Given the description of an element on the screen output the (x, y) to click on. 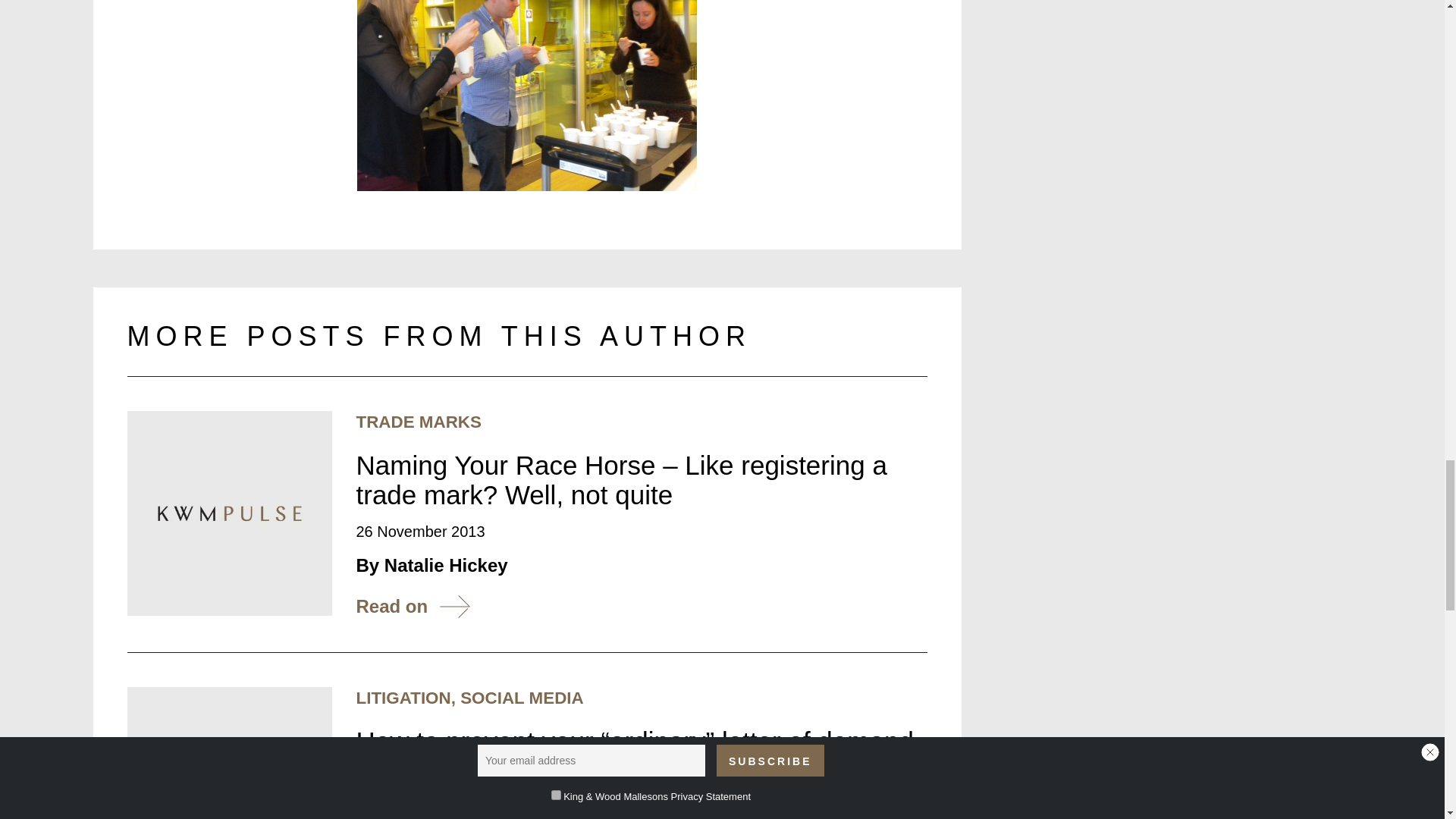
IPW Aldi5 (526, 95)
